Given the description of an element on the screen output the (x, y) to click on. 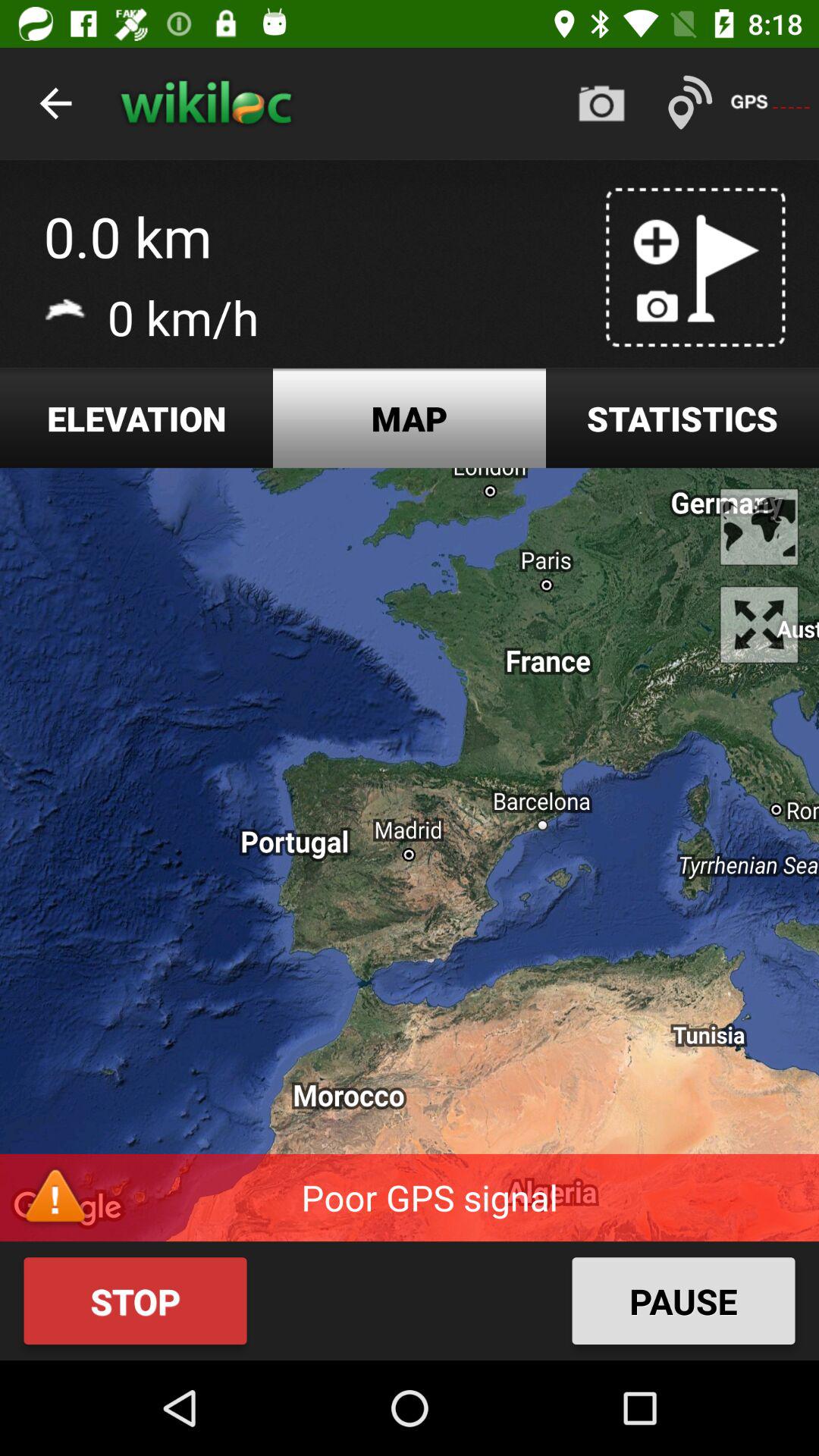
tap item below the elevation icon (409, 854)
